Given the description of an element on the screen output the (x, y) to click on. 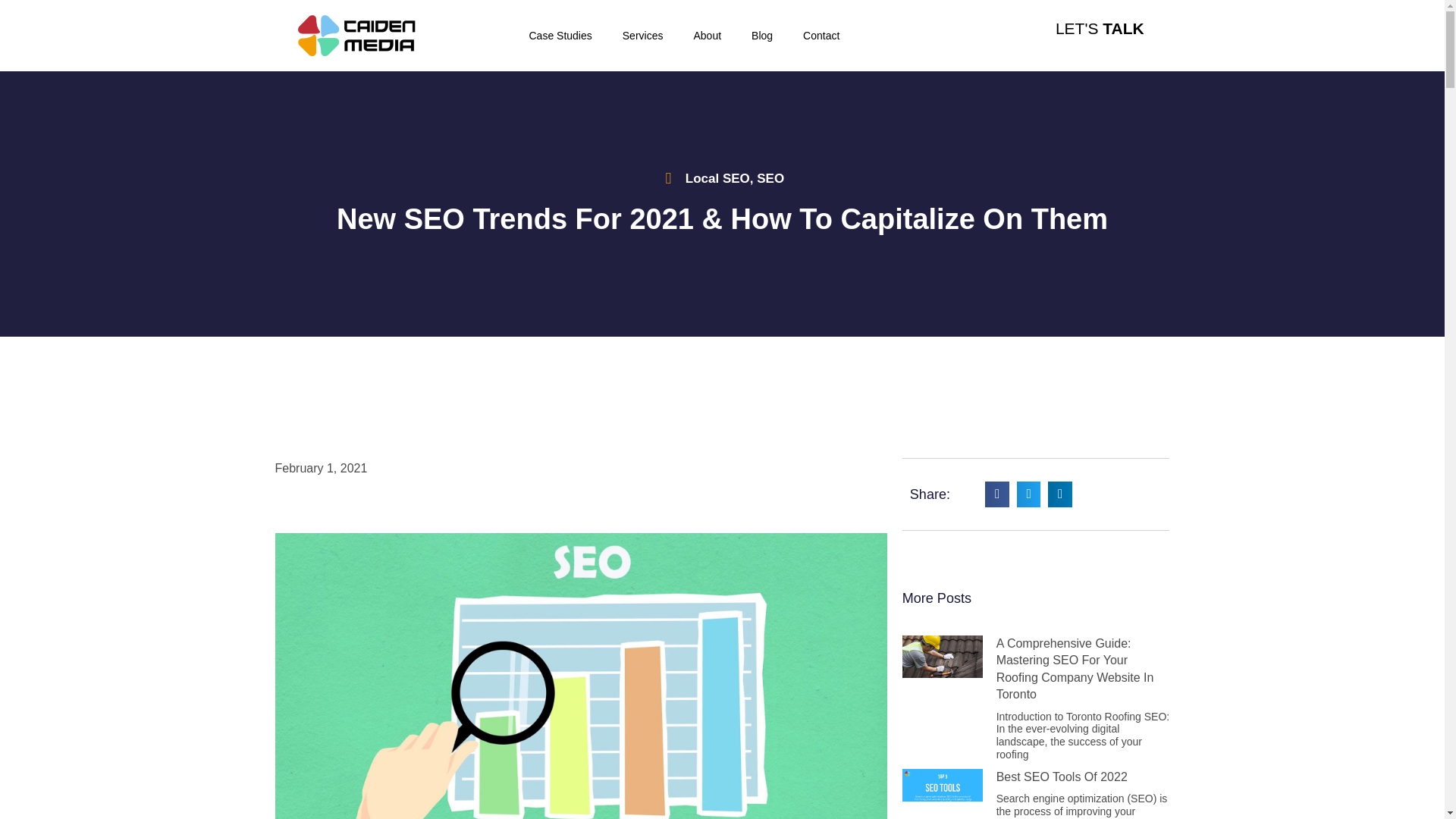
Case Studies (560, 35)
Contact (820, 35)
About (707, 35)
Services (642, 35)
Blog (761, 35)
